Given the description of an element on the screen output the (x, y) to click on. 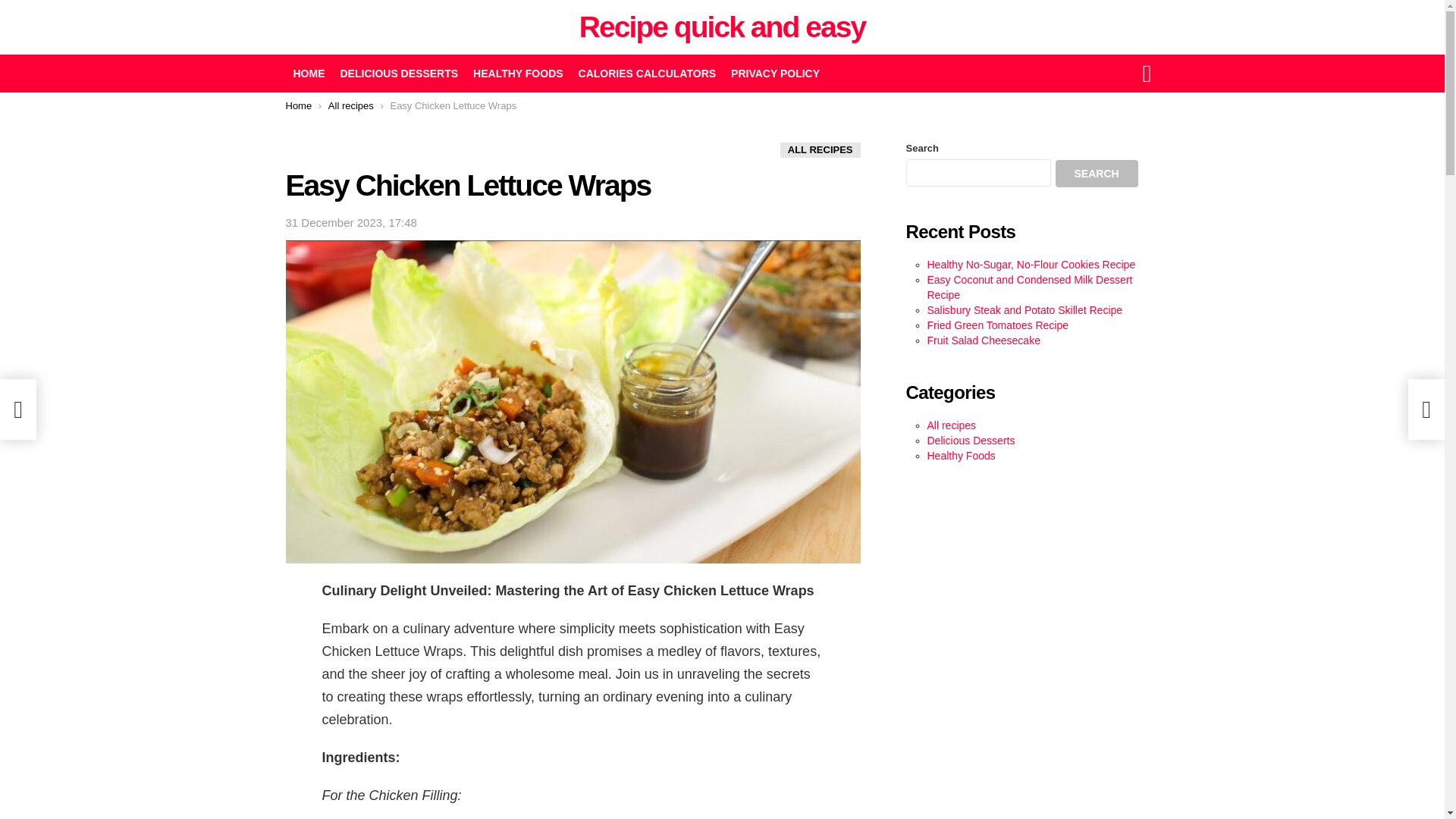
Easy Coconut and Condensed Milk Dessert Recipe (1029, 287)
Healthy No-Sugar, No-Flour Cookies Recipe (1030, 264)
All recipes (950, 425)
Fruit Salad Cheesecake (982, 340)
CALORIES CALCULATORS (646, 73)
Salisbury Steak and Potato Skillet Recipe (1024, 309)
Recipe quick and easy (721, 26)
All recipes (351, 105)
Fried Green Tomatoes Recipe (997, 325)
SEARCH (1096, 173)
HEALTHY FOODS (517, 73)
DELICIOUS DESSERTS (398, 73)
ALL RECIPES (820, 150)
Home (298, 105)
Healthy Foods (960, 455)
